Given the description of an element on the screen output the (x, y) to click on. 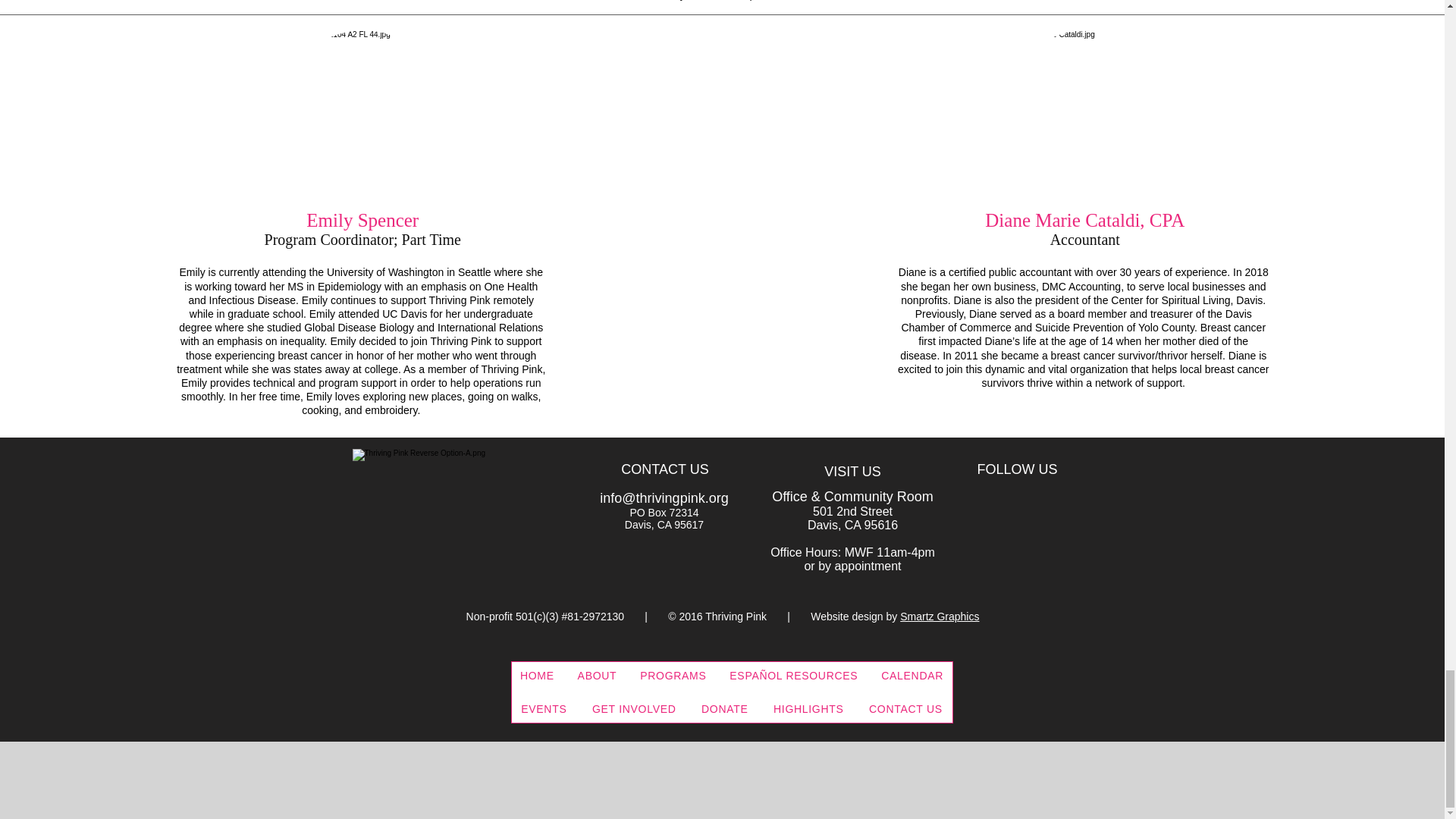
Smartz Graphics (938, 616)
guy2.jpg (1085, 112)
501 2nd Street (852, 511)
guy2.jpg (363, 112)
Davis, CA 95616 (853, 524)
VISIT US (852, 471)
CONTACT US (664, 468)
